Given the description of an element on the screen output the (x, y) to click on. 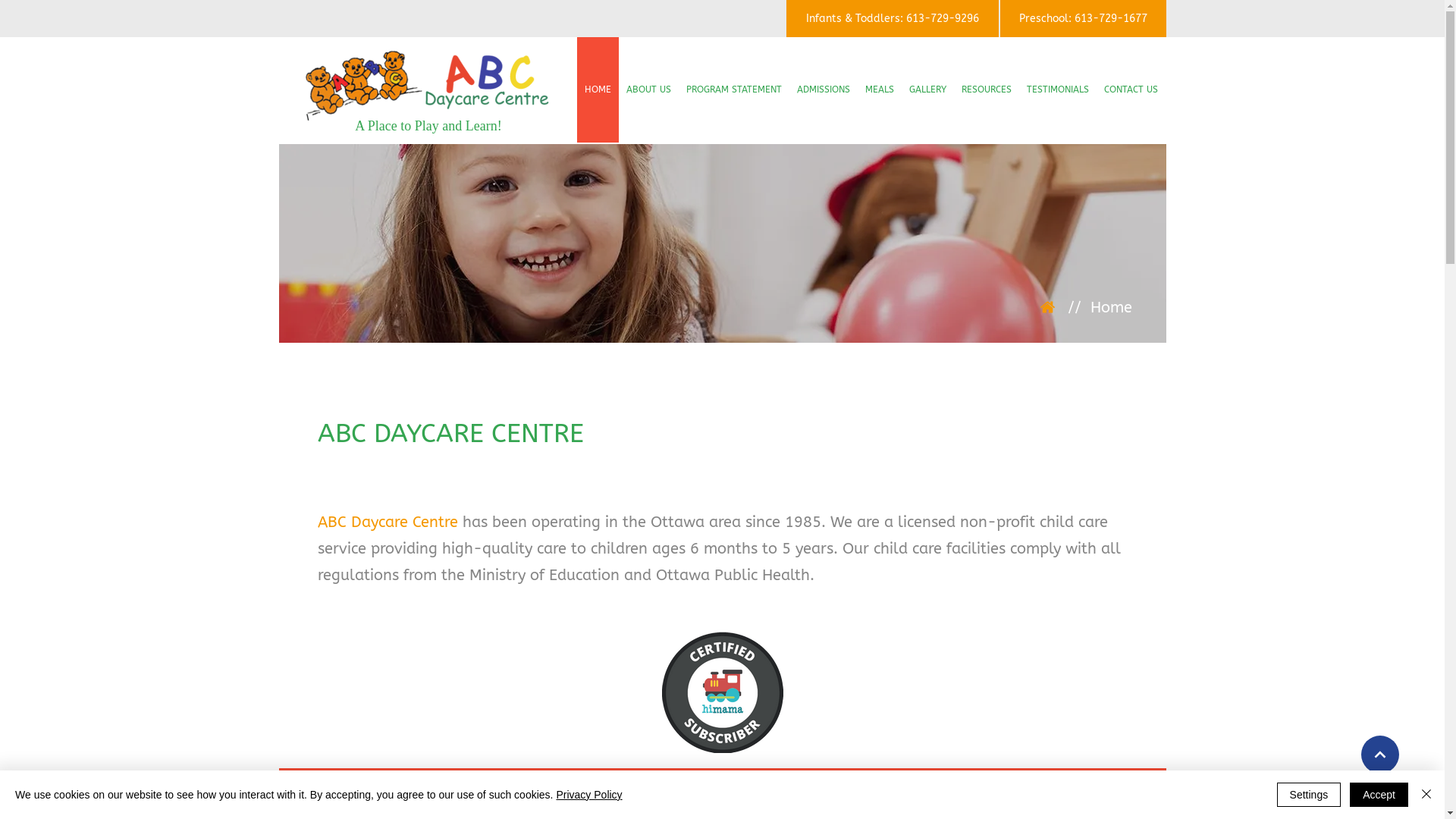
Settings Element type: text (1309, 794)
Infants & Toddlers: 613-729-9296 Element type: text (891, 18)
MEALS Element type: text (879, 89)
Preschool: 613-729-1677 Element type: text (1082, 18)
HOME Element type: text (597, 89)
GALLERY Element type: text (927, 89)
TESTIMONIALS Element type: text (1057, 89)
RESOURCES Element type: text (986, 89)
ABOUT US Element type: text (648, 89)
ABC Daycare Centre Element type: text (386, 521)
Accept Element type: text (1378, 794)
ADMISSIONS Element type: text (823, 89)
PROGRAM STATEMENT Element type: text (733, 89)
Privacy Policy Element type: text (588, 794)
CONTACT US Element type: text (1130, 89)
